Given the description of an element on the screen output the (x, y) to click on. 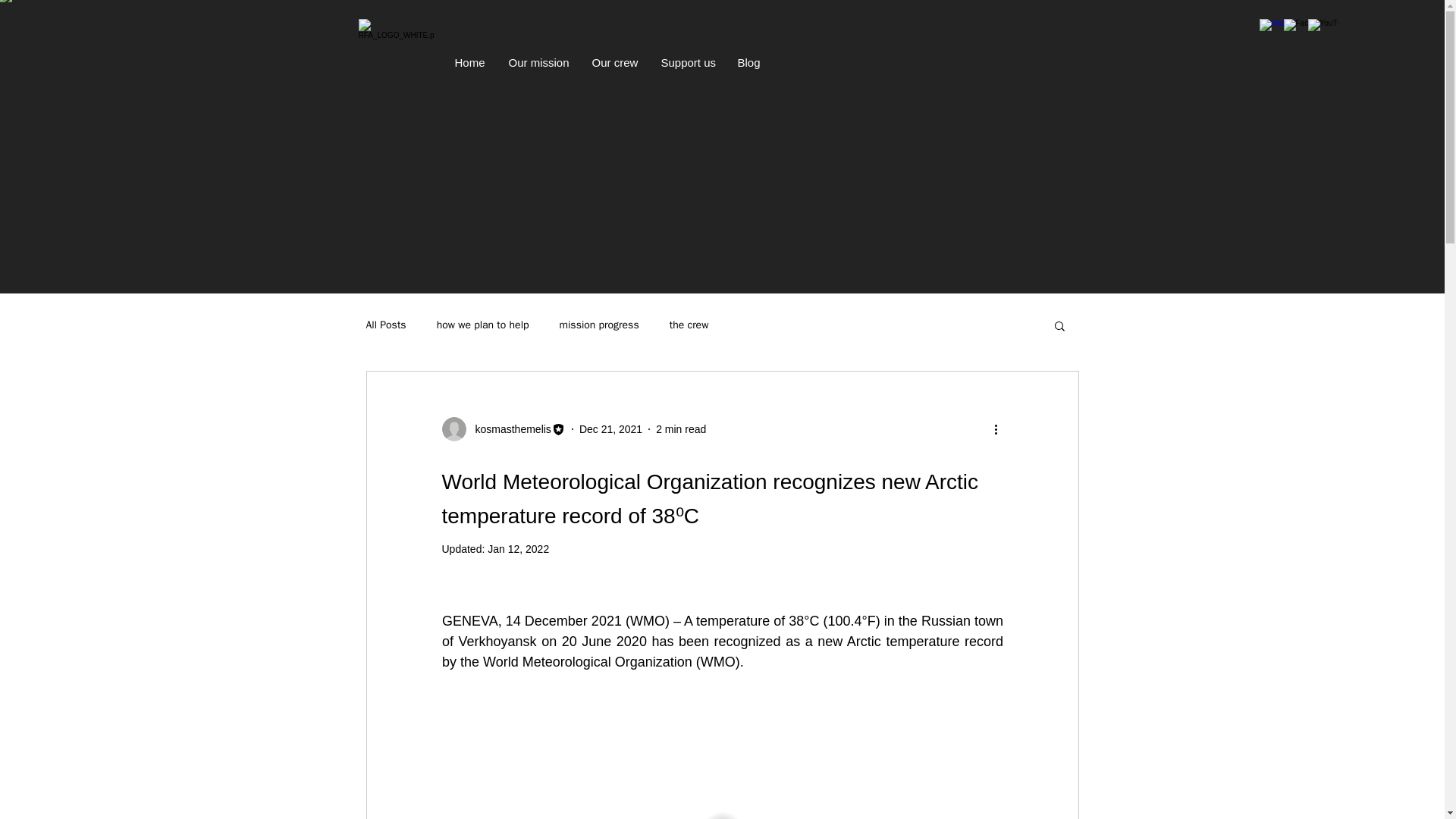
kosmasthemelis (502, 428)
Our mission (538, 62)
2 min read (681, 428)
Blog (749, 62)
Our crew (614, 62)
kosmasthemelis (507, 429)
Support us (687, 62)
how we plan to help (482, 325)
mission progress (599, 325)
Jan 12, 2022 (517, 548)
